Given the description of an element on the screen output the (x, y) to click on. 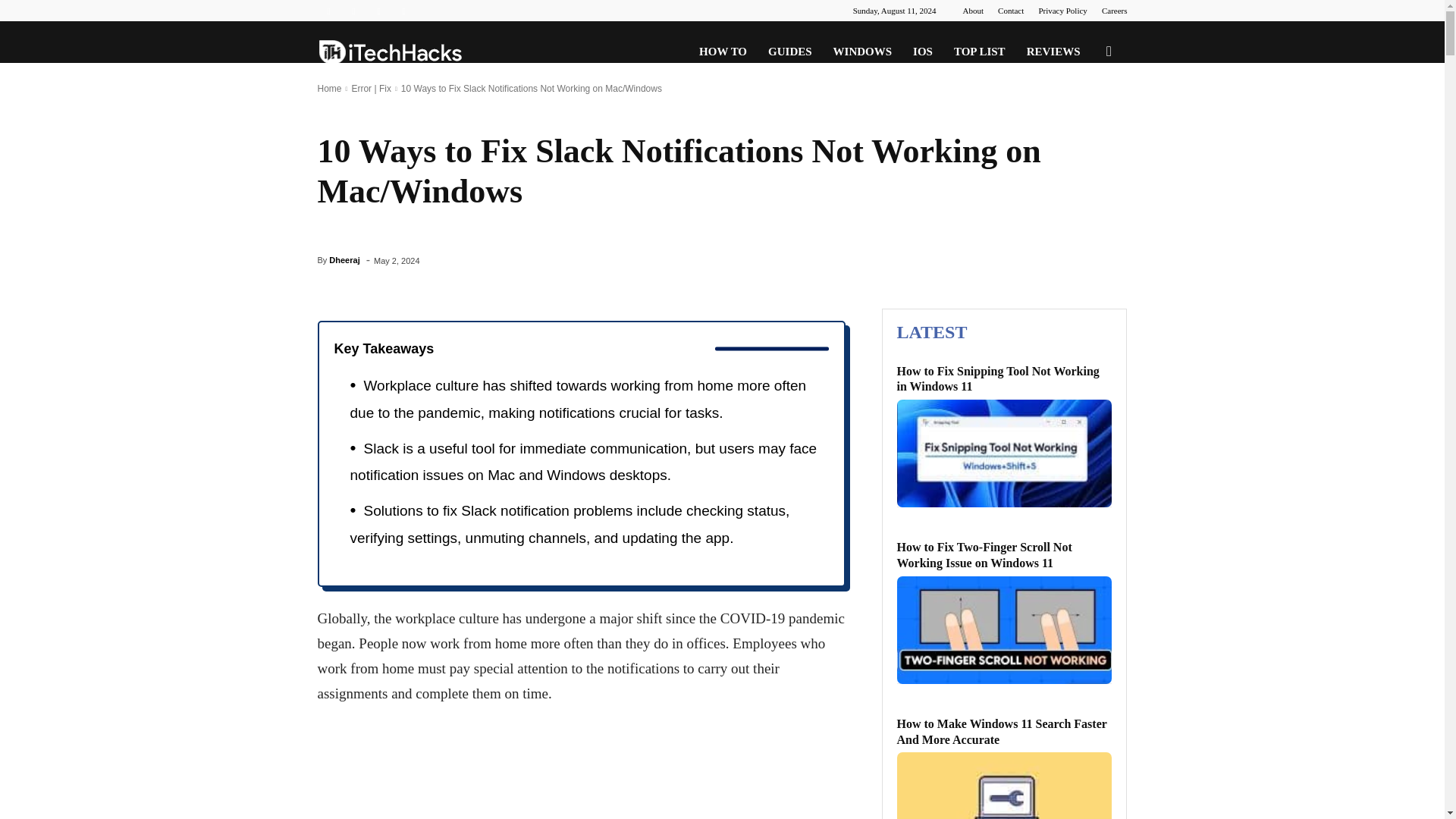
Dheeraj (344, 259)
Facebook (328, 10)
Home (328, 88)
TOP LIST (979, 51)
iTech Hacks (390, 51)
REVIEWS (1053, 51)
Search (1085, 124)
Advertisement (579, 772)
GUIDES (789, 51)
WINDOWS (862, 51)
